Given the description of an element on the screen output the (x, y) to click on. 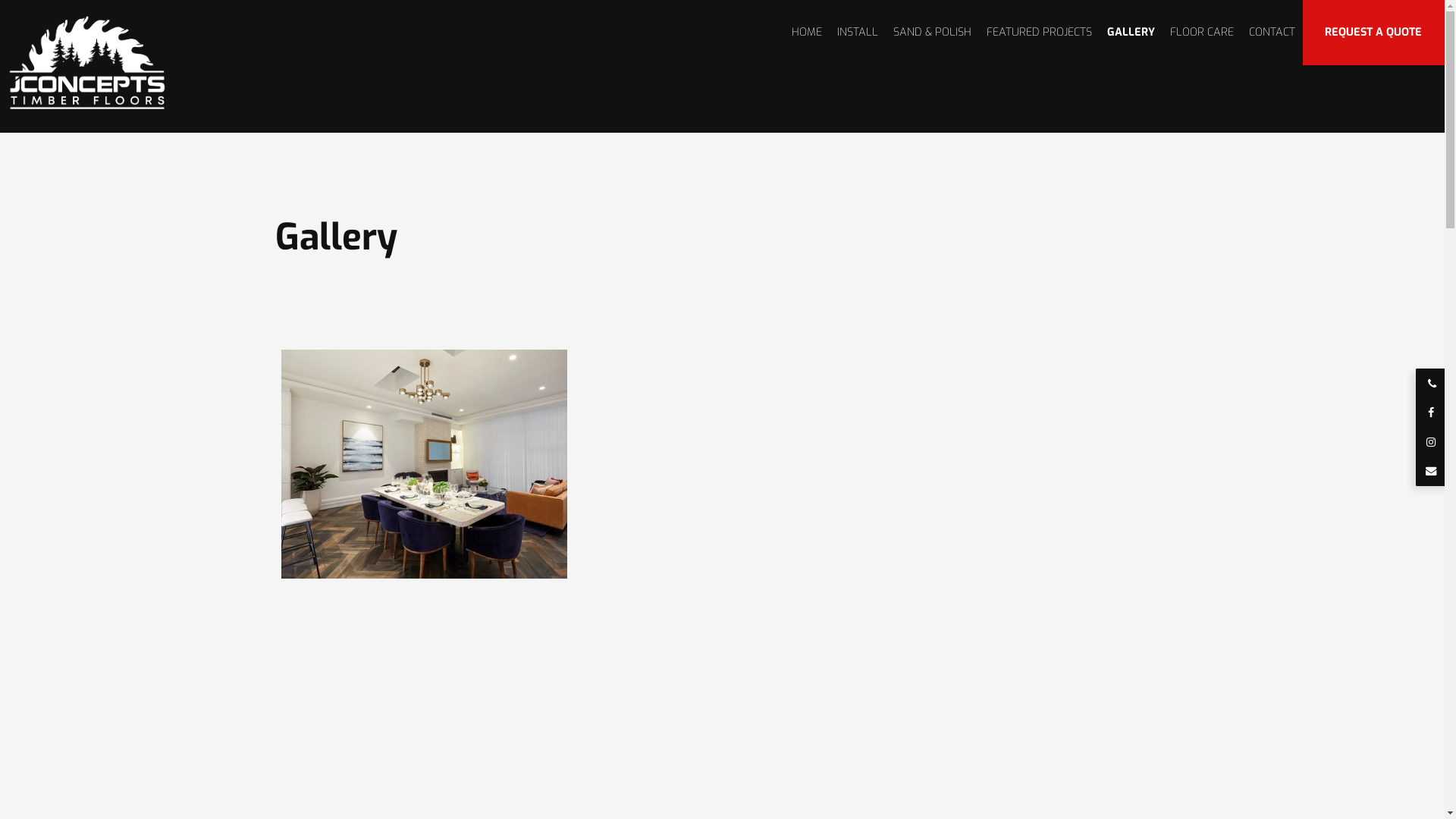
INSTALL Element type: text (857, 32)
CONTACT Element type: text (1271, 32)
SAND & POLISH Element type: text (932, 32)
REQUEST A QUOTE Element type: text (1373, 32)
HOME Element type: text (806, 32)
FLOOR CARE Element type: text (1201, 32)
GALLERY Element type: text (1130, 32)
FEATURED PROJECTS Element type: text (1039, 32)
